Given the description of an element on the screen output the (x, y) to click on. 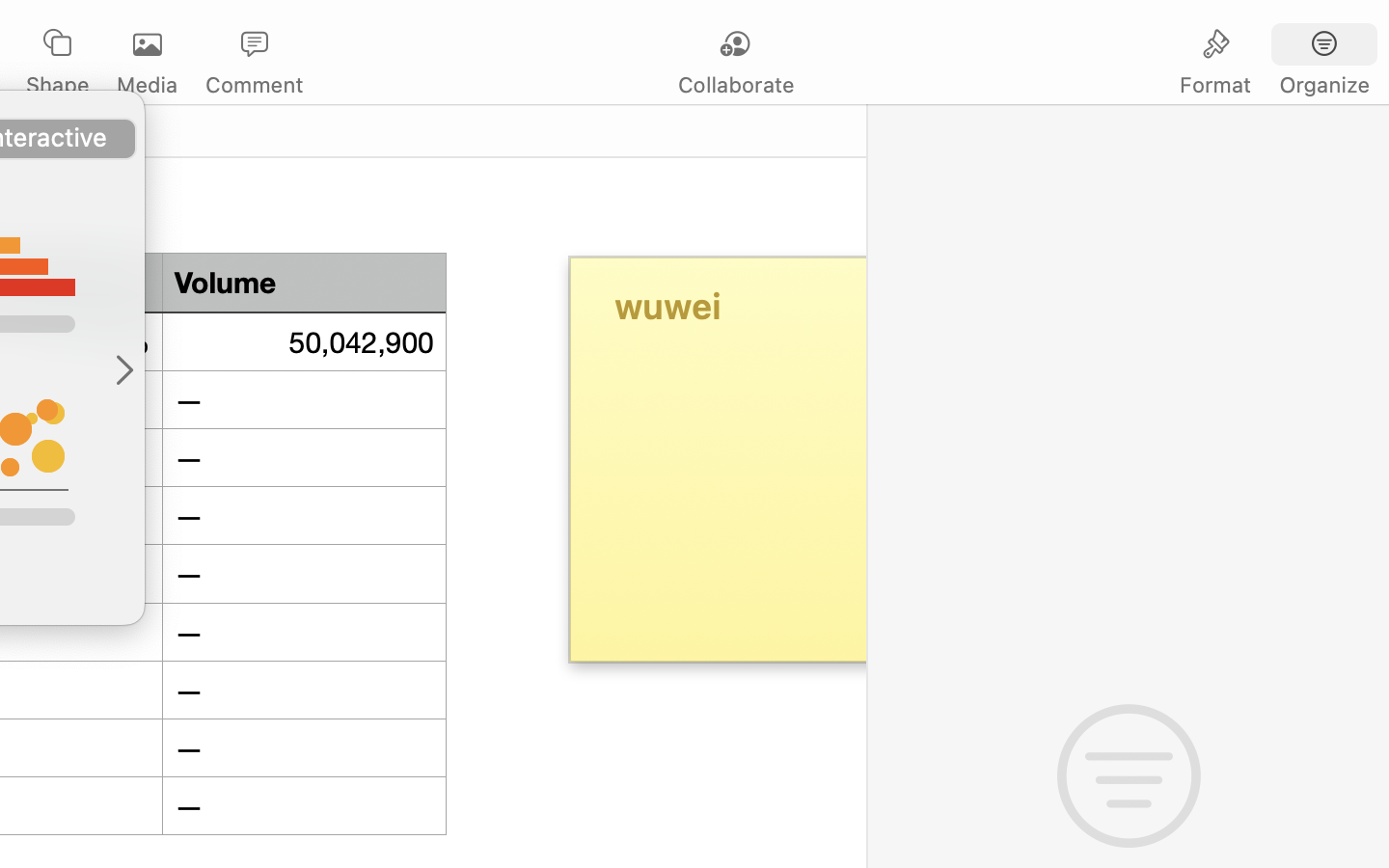
Format Element type: AXStaticText (1215, 84)
